Given the description of an element on the screen output the (x, y) to click on. 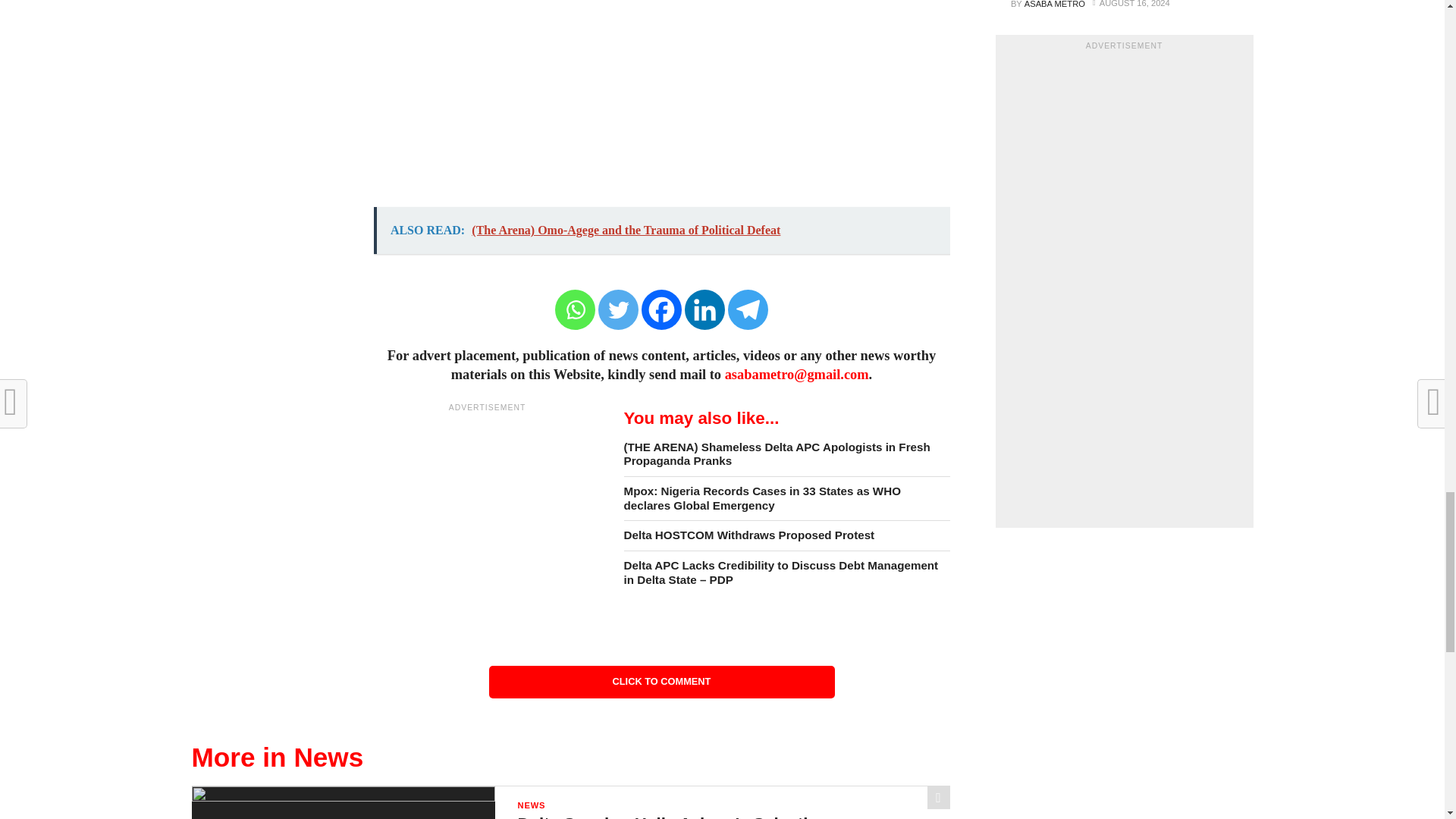
Twitter (618, 309)
Whatsapp (574, 309)
Facebook (661, 309)
